Given the description of an element on the screen output the (x, y) to click on. 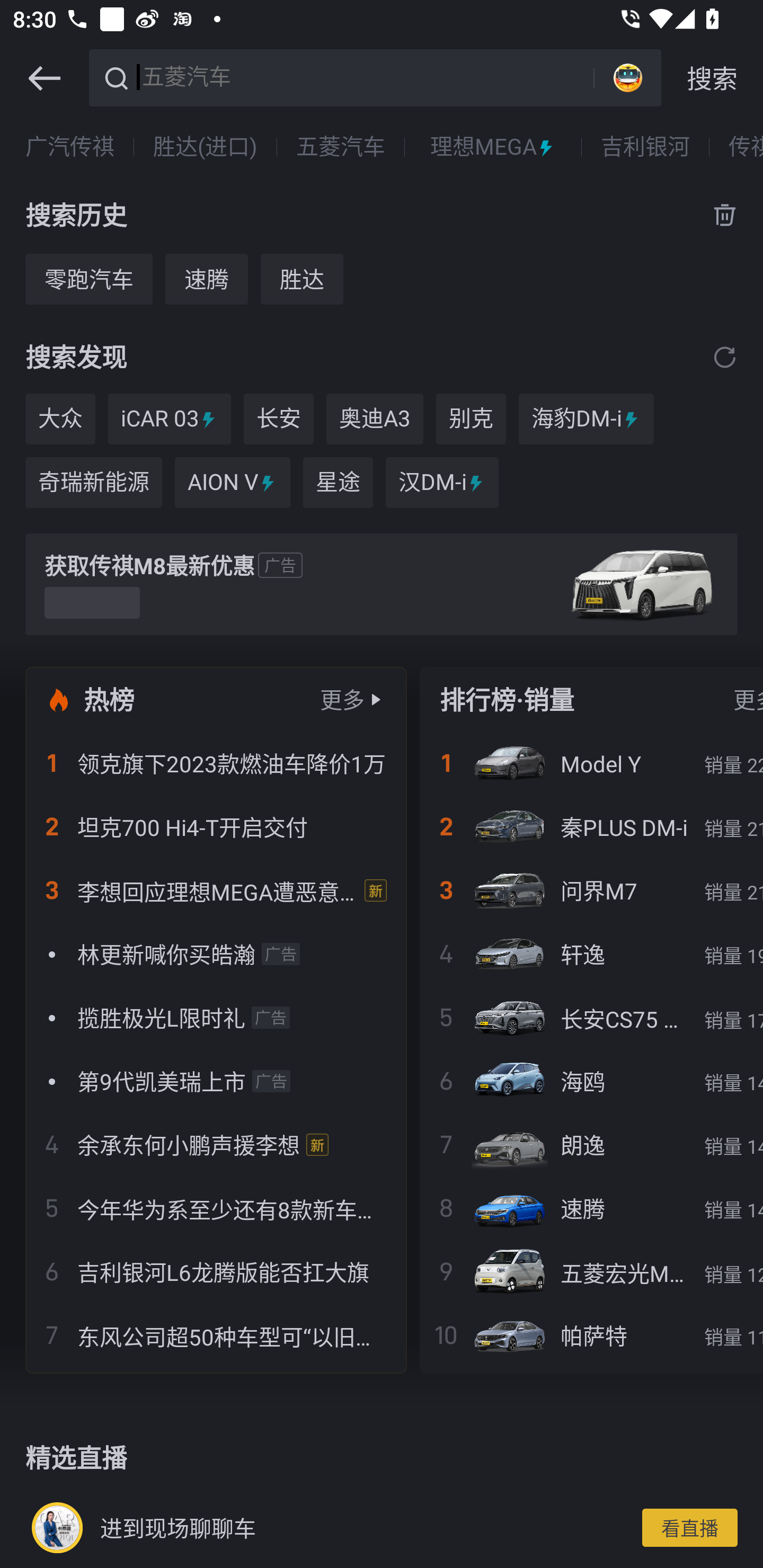
 五菱汽车 (364, 76)
 (44, 78)
搜索 (711, 78)
广汽传祺 (69, 147)
胜达(进口) (205, 147)
五菱汽车 (340, 147)
理想MEGA (493, 147)
吉利银河 (645, 147)
零跑汽车 (88, 278)
速腾 (206, 278)
胜达 (302, 278)
 (724, 357)
大众 (60, 418)
iCAR 03 (169, 418)
长安 (278, 418)
奥迪A3 (374, 418)
别克 (470, 418)
海豹DM-i (585, 418)
奇瑞新能源 (93, 482)
AION V (232, 482)
星途 (337, 482)
汉DM-i (442, 482)
获取传祺M8最新优惠 广告 立享优惠 (381, 584)
更多 (341, 699)
领克旗下2023款燃油车降价1万 (215, 763)
Model Y 销量 22537 (591, 763)
坦克700 Hi4-T开启交付 (215, 826)
秦PLUS DM-i 销量 21268 (591, 826)
李想回应理想MEGA遭恶意P图 (215, 890)
问界M7 销量 21083 (591, 890)
林更新喊你买皓瀚 (215, 953)
轩逸 销量 19878 (591, 953)
揽胜极光L限时礼 (215, 1017)
长安CS75 PLUS 销量 17303 (591, 1017)
第9代凯美瑞上市 (215, 1080)
海鸥 销量 14403 (591, 1080)
余承东何小鹏声援李想 (215, 1144)
朗逸 销量 14400 (591, 1144)
今年华为系至少还有8款新车要来 (215, 1208)
速腾 销量 14209 (591, 1208)
吉利银河L6龙腾版能否扛大旗 (215, 1271)
五菱宏光MINIEV 销量 12649 (591, 1271)
东风公司超50种车型可“以旧换新” (215, 1335)
帕萨特 销量 11641 (591, 1335)
进到现场聊聊车 看直播 (381, 1526)
